Given the description of an element on the screen output the (x, y) to click on. 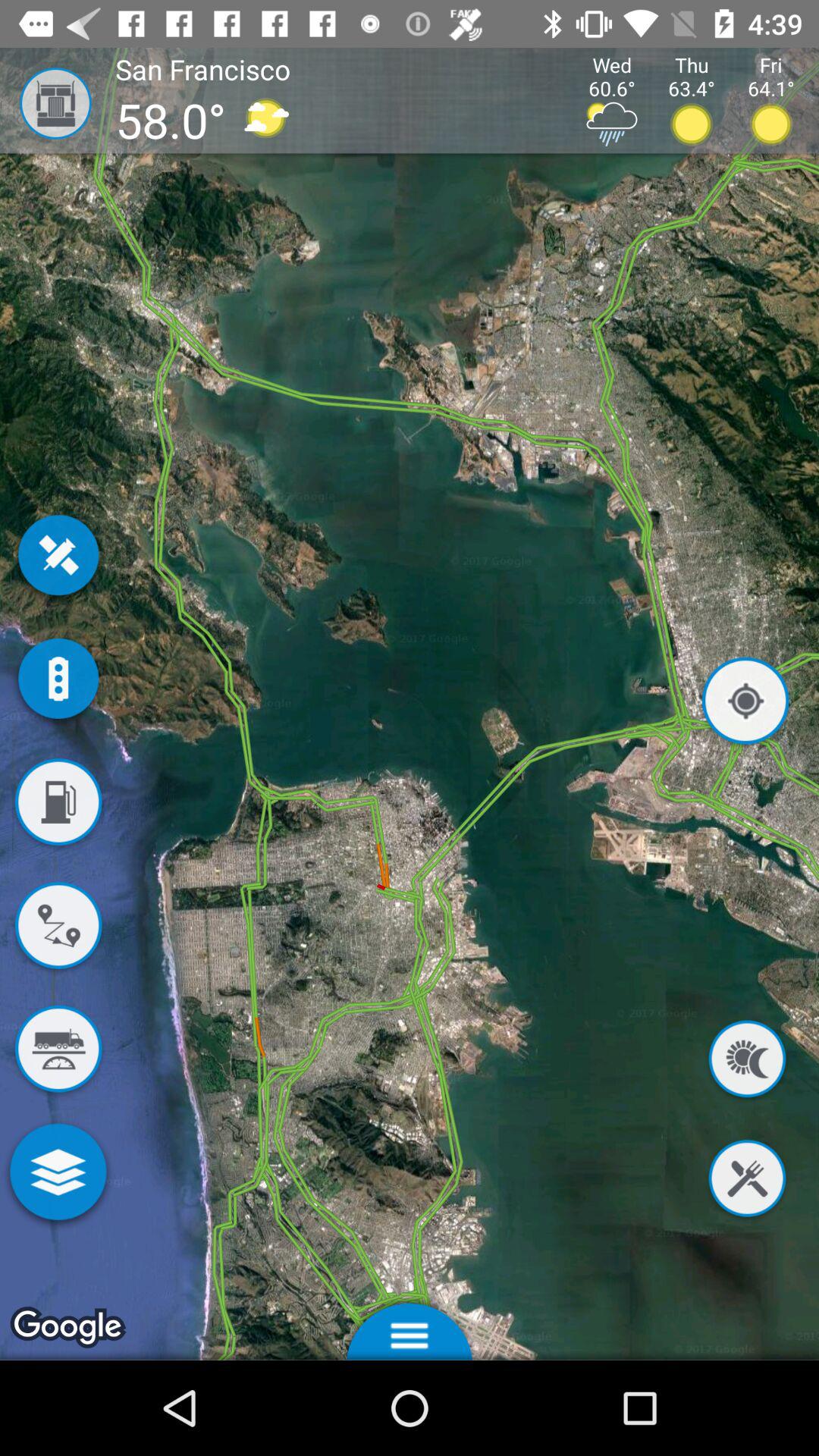
add map layer (57, 1175)
